Given the description of an element on the screen output the (x, y) to click on. 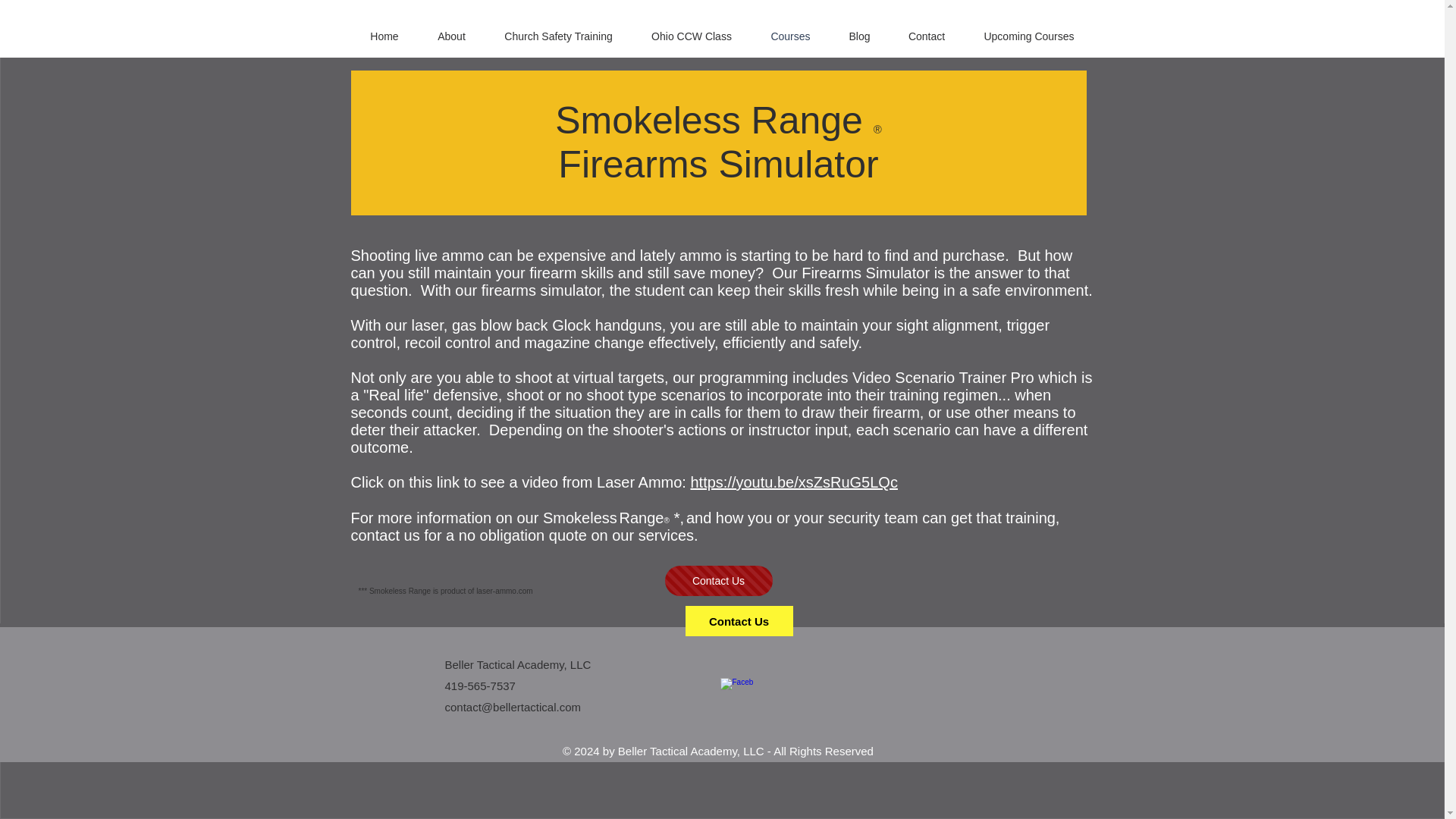
Beller Tactical Academy, LLC (517, 664)
Contact Us (717, 580)
Church Safety Training (557, 36)
Ohio CCW Class (691, 36)
Courses (790, 36)
Contact (925, 36)
Home (383, 36)
About (451, 36)
Upcoming Courses (1028, 36)
Contact Us (739, 621)
